Given the description of an element on the screen output the (x, y) to click on. 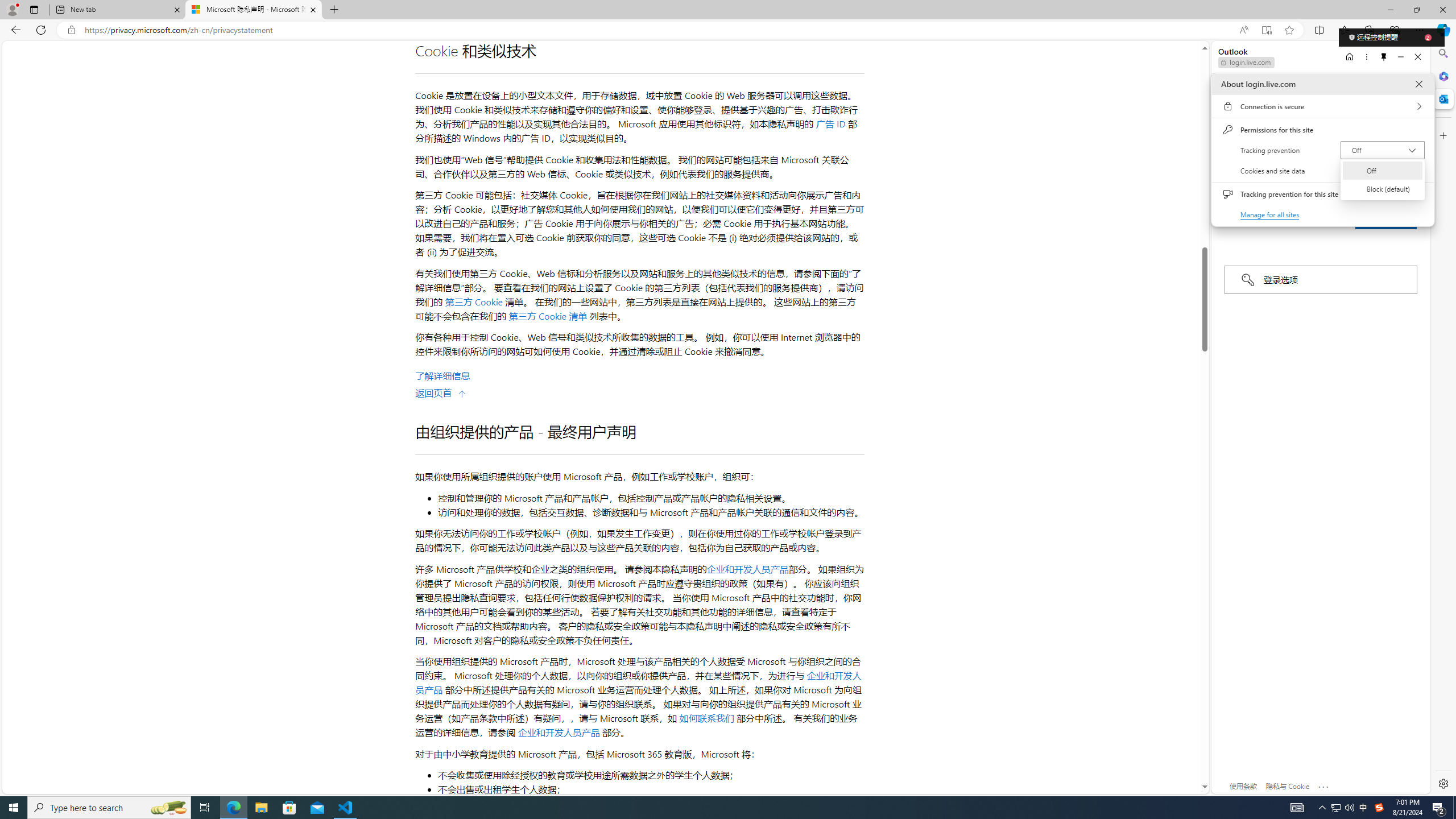
Connection is secure (1322, 105)
Block (default) (1382, 188)
Microsoft Store (289, 807)
Type here to search (108, 807)
File Explorer (261, 807)
Start (1335, 807)
Search highlights icon opens search home window (13, 807)
Permissions for this site (167, 807)
Notification Chevron (1322, 129)
Off (1322, 807)
Tracking prevention Off (1382, 170)
Q2790: 100% (1382, 149)
